Given the description of an element on the screen output the (x, y) to click on. 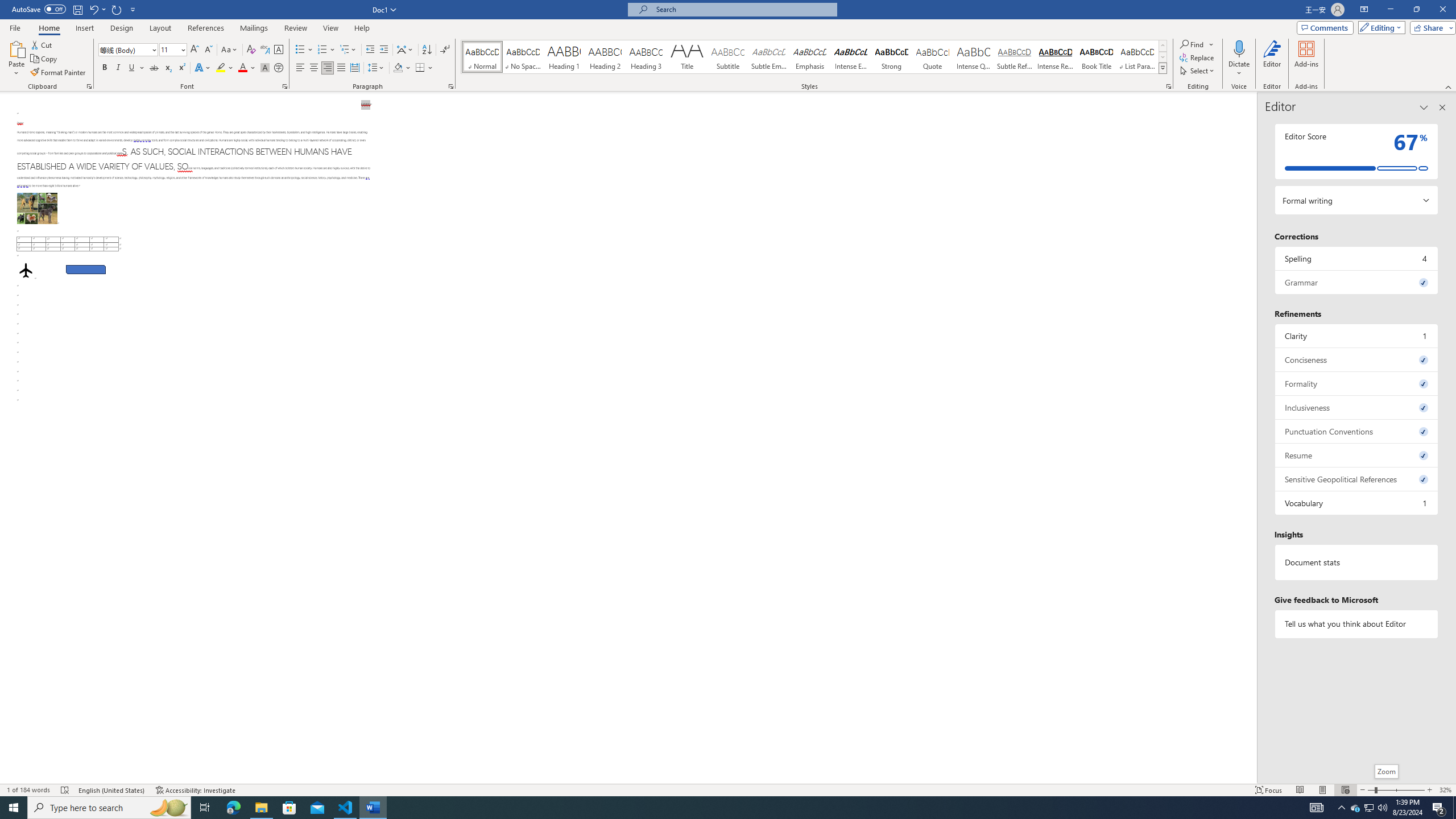
Document statistics (1356, 561)
Heading 2 (605, 56)
Airplane with solid fill (25, 270)
